Given the description of an element on the screen output the (x, y) to click on. 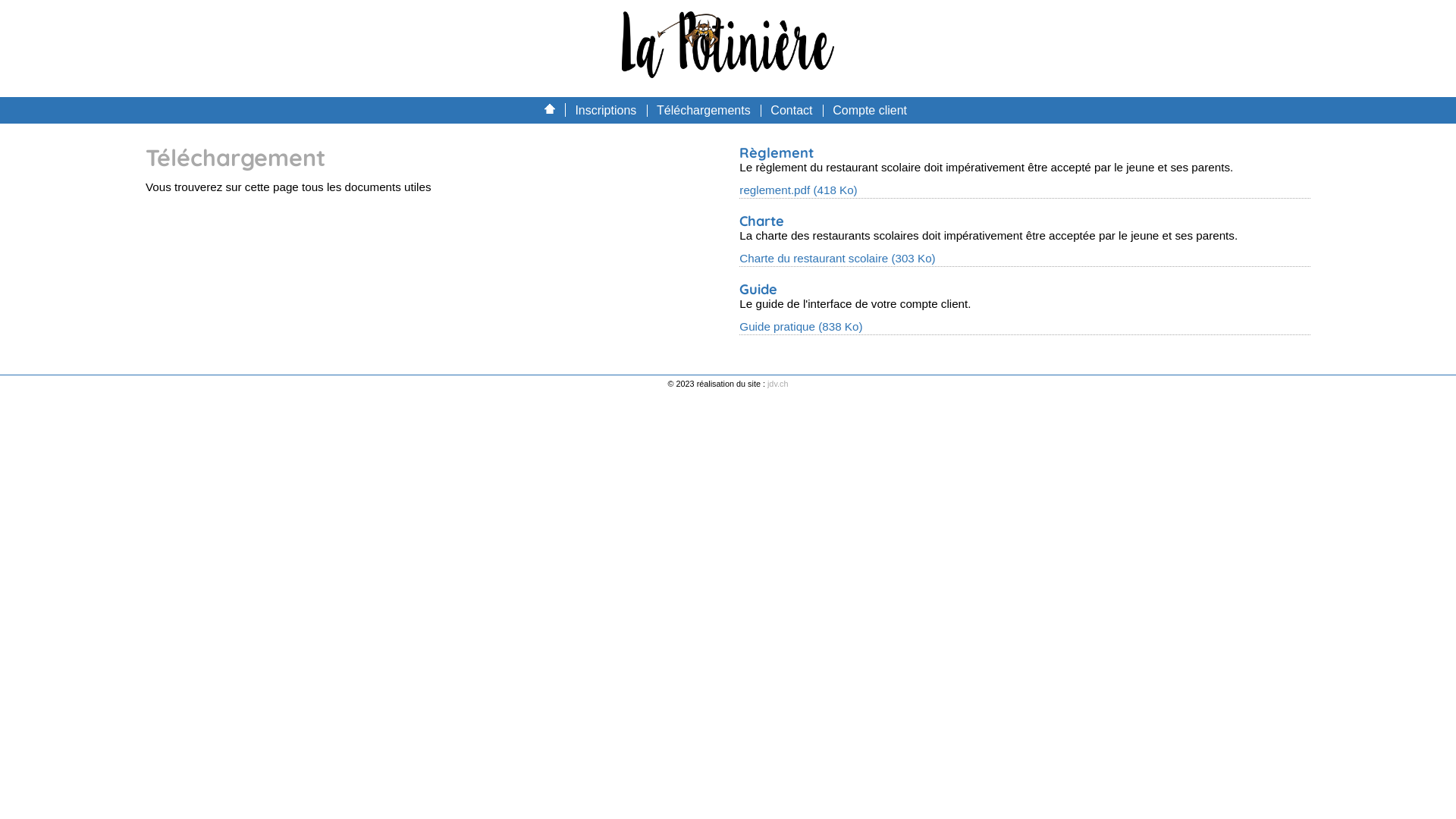
Charte du restaurant scolaire (303 Ko) Element type: text (837, 257)
Inscriptions Element type: text (605, 109)
Compte client Element type: text (869, 109)
reglement.pdf (418 Ko) Element type: text (797, 189)
Contact Element type: text (791, 109)
jdv.ch Element type: text (777, 383)
Guide pratique (838 Ko) Element type: text (800, 326)
